Given the description of an element on the screen output the (x, y) to click on. 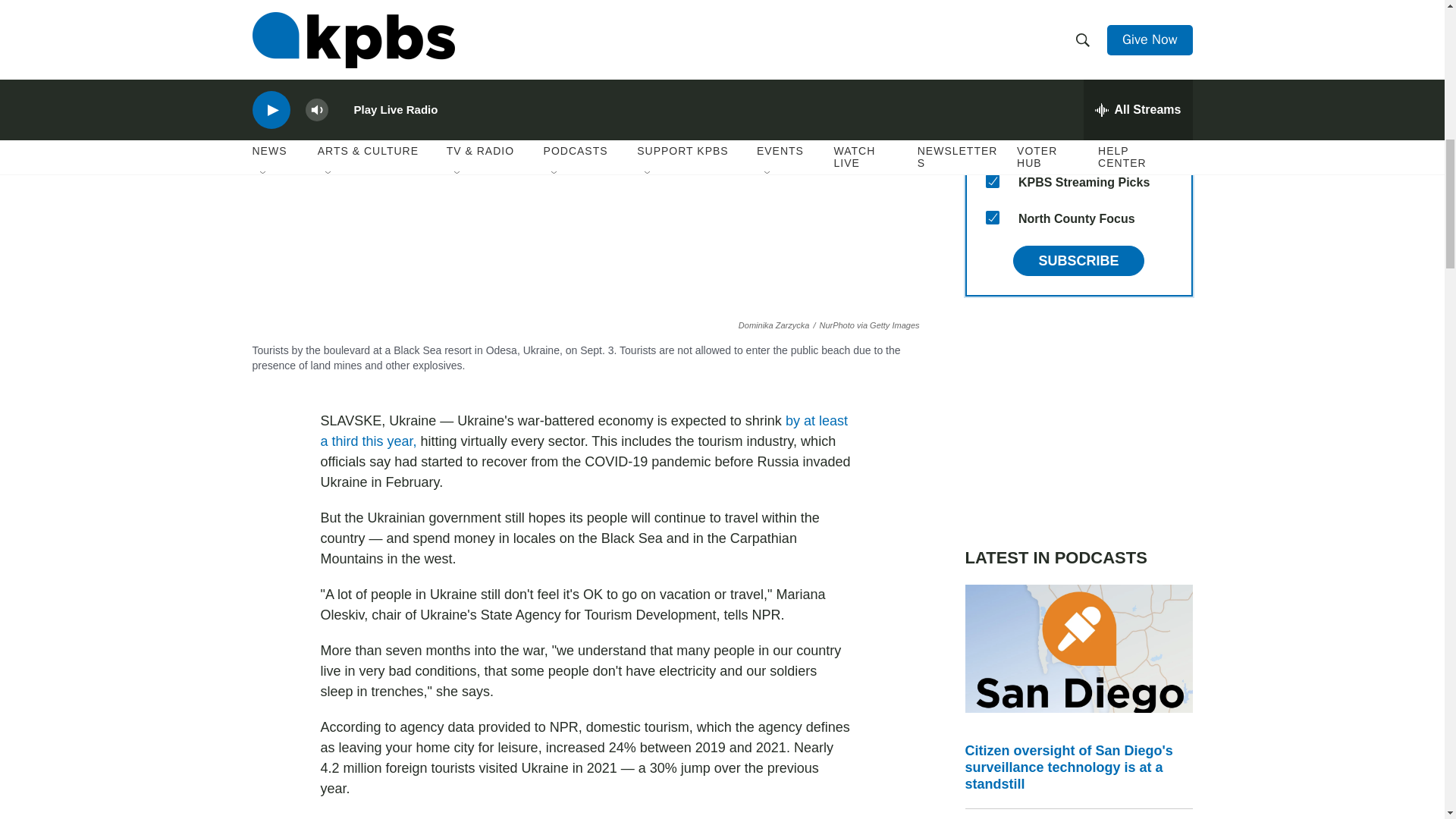
4 (991, 2)
15 (991, 217)
8 (991, 181)
2 (991, 108)
1 (991, 144)
5 (991, 35)
6 (991, 71)
